Given the description of an element on the screen output the (x, y) to click on. 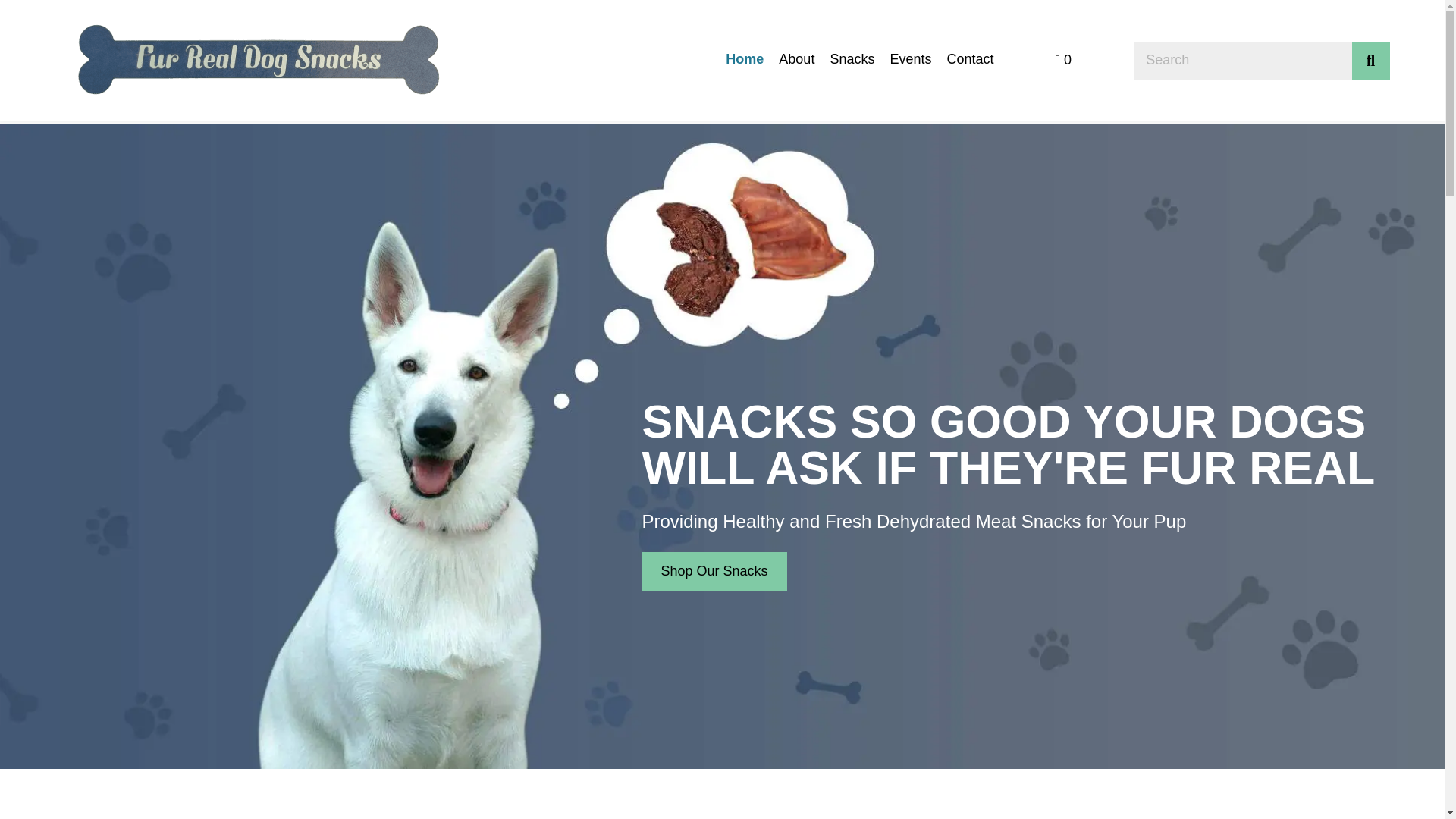
Search (1241, 59)
0 (1063, 59)
Events (910, 60)
Home (743, 60)
Contact (969, 60)
Snacks (852, 60)
Start shopping (1063, 59)
About (795, 60)
Shop Our Snacks (714, 571)
